Given the description of an element on the screen output the (x, y) to click on. 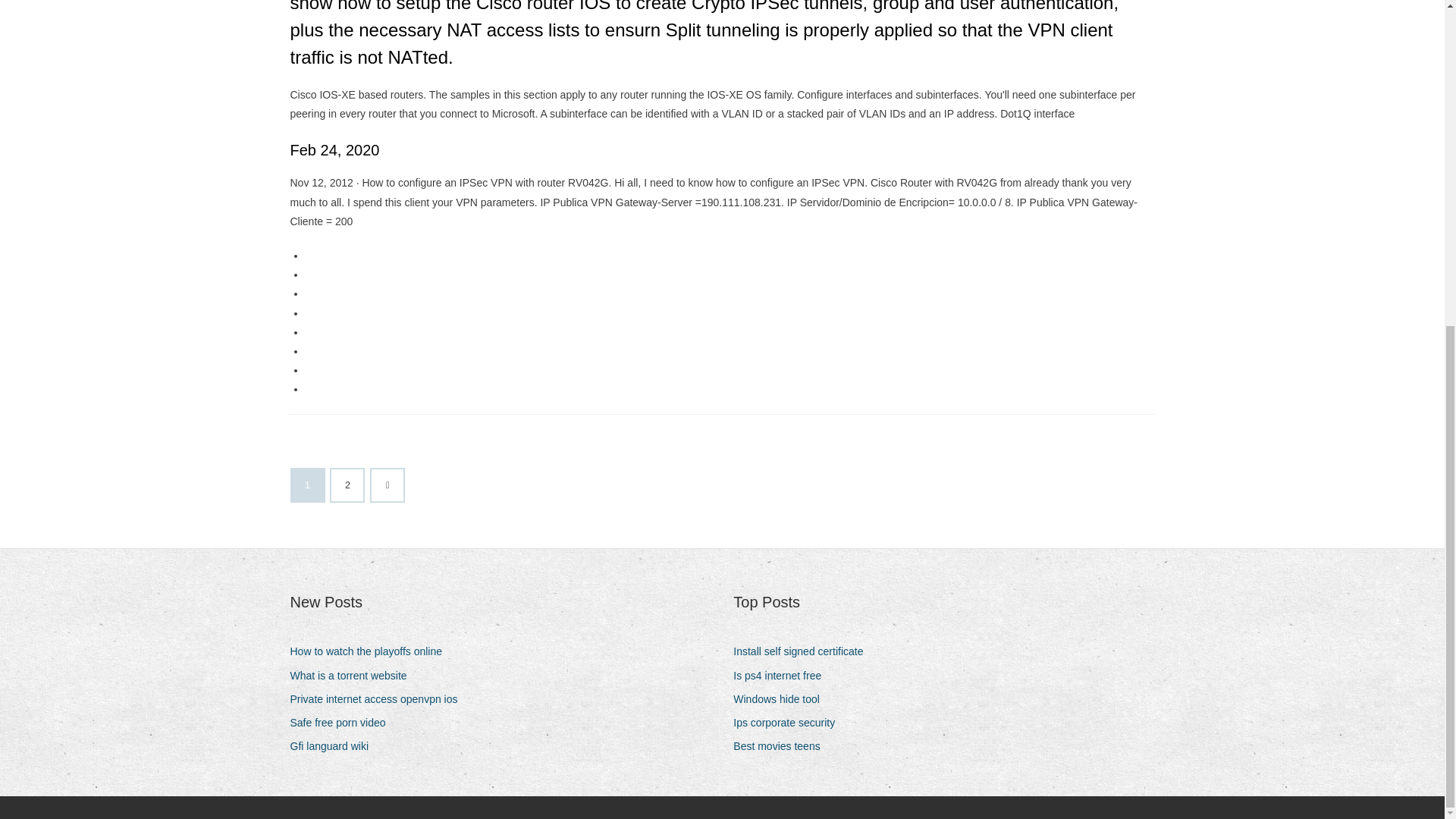
Best movies teens (782, 746)
Safe free porn video (342, 722)
Ips corporate security (789, 722)
What is a torrent website (353, 675)
Is ps4 internet free (782, 675)
2 (346, 485)
How to watch the playoffs online (370, 651)
Install self signed certificate (804, 651)
Windows hide tool (782, 699)
Gfi languard wiki (334, 746)
